Given the description of an element on the screen output the (x, y) to click on. 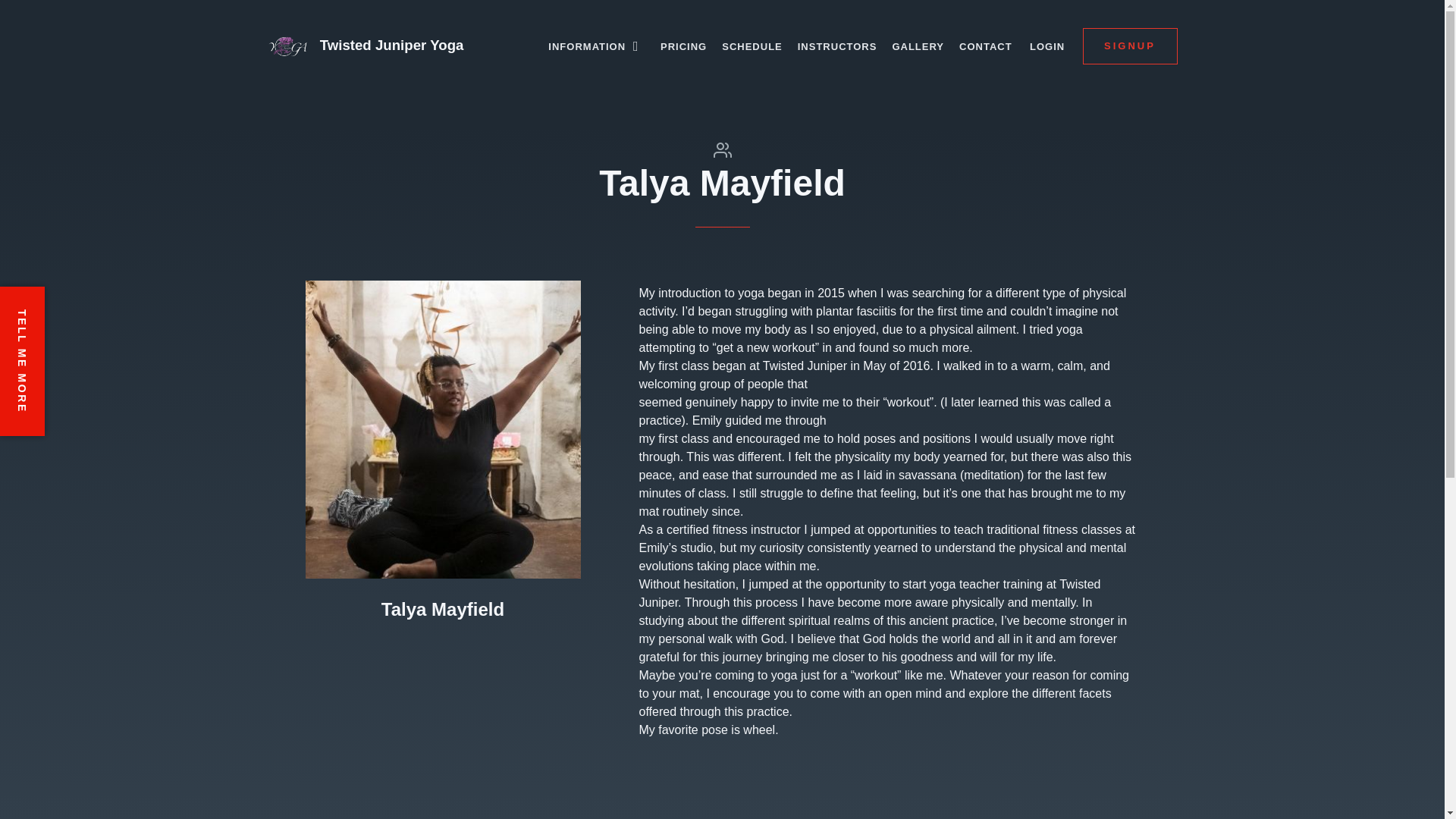
PRICING (683, 46)
SCHEDULE (752, 46)
LOGIN (1046, 46)
TELL ME MORE (74, 309)
GALLERY (917, 46)
Twisted Juniper Yoga (403, 45)
CONTACT (986, 46)
Pricing (683, 46)
Schedule (752, 46)
INSTRUCTORS (837, 46)
